Given the description of an element on the screen output the (x, y) to click on. 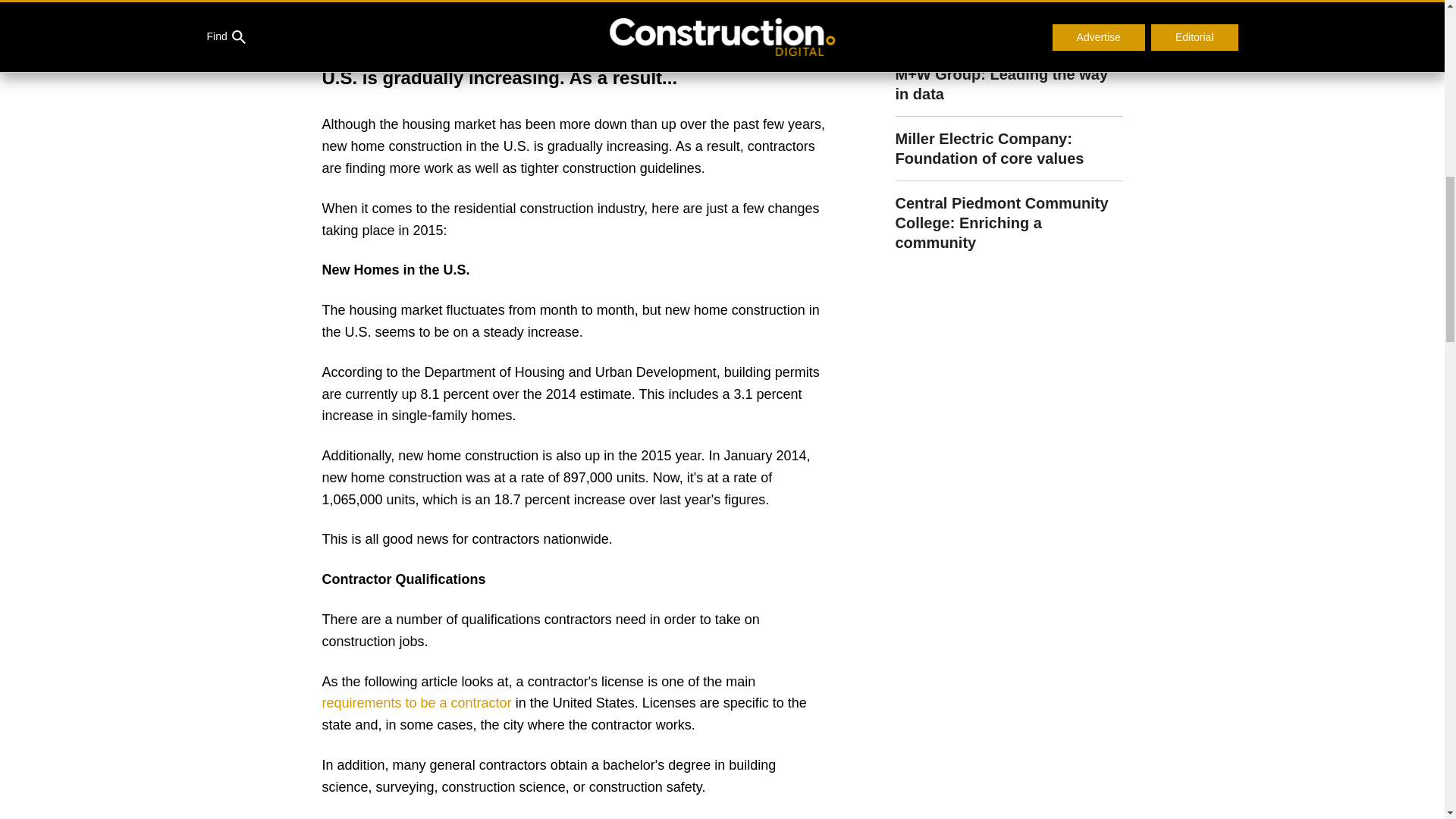
requirements to be a contractor (416, 702)
Central Piedmont Community College: Enriching a community (1008, 216)
Miller Electric Company: Foundation of core values (1008, 148)
